Given the description of an element on the screen output the (x, y) to click on. 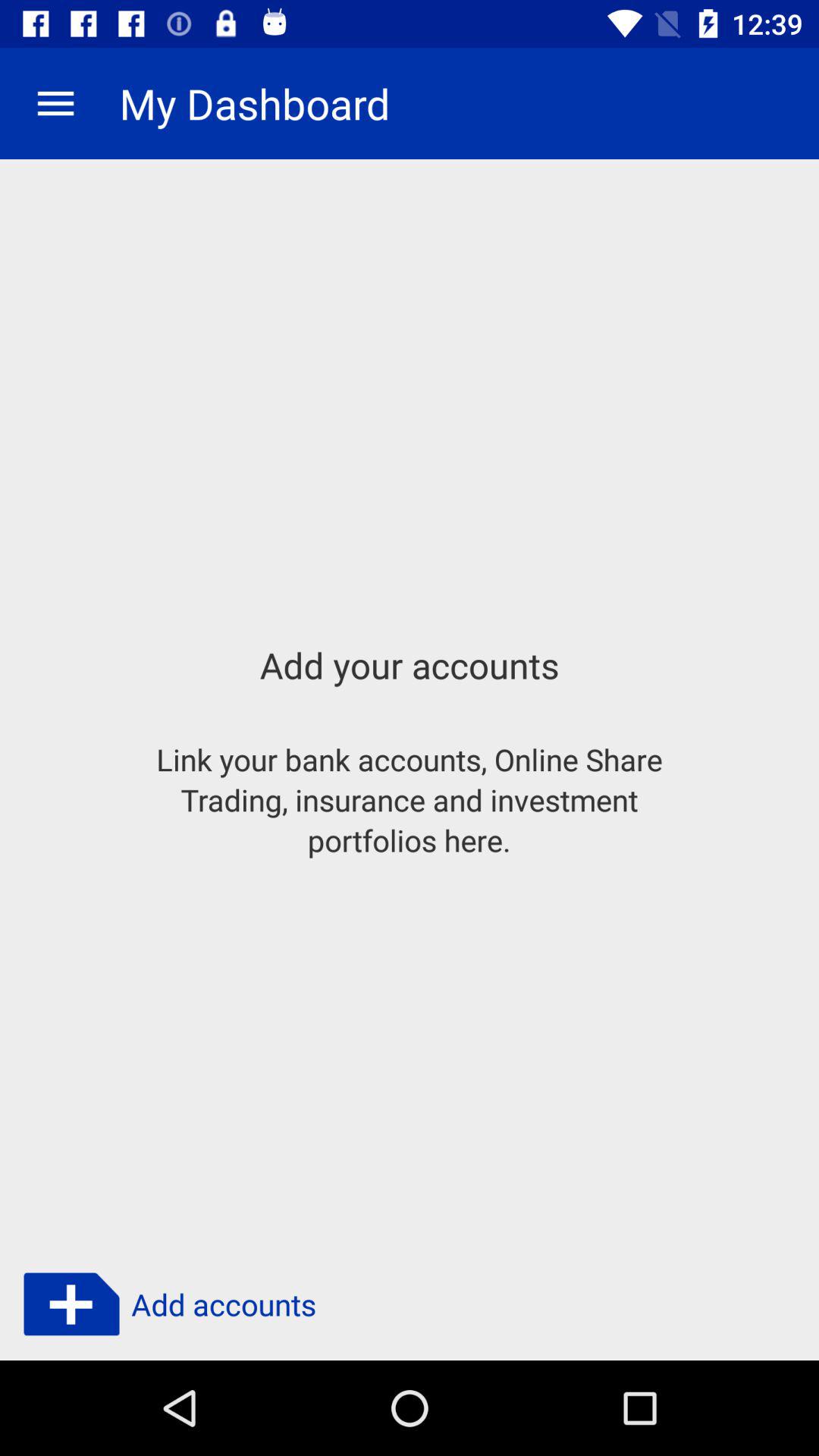
press the icon to the left of the my dashboard icon (55, 103)
